Given the description of an element on the screen output the (x, y) to click on. 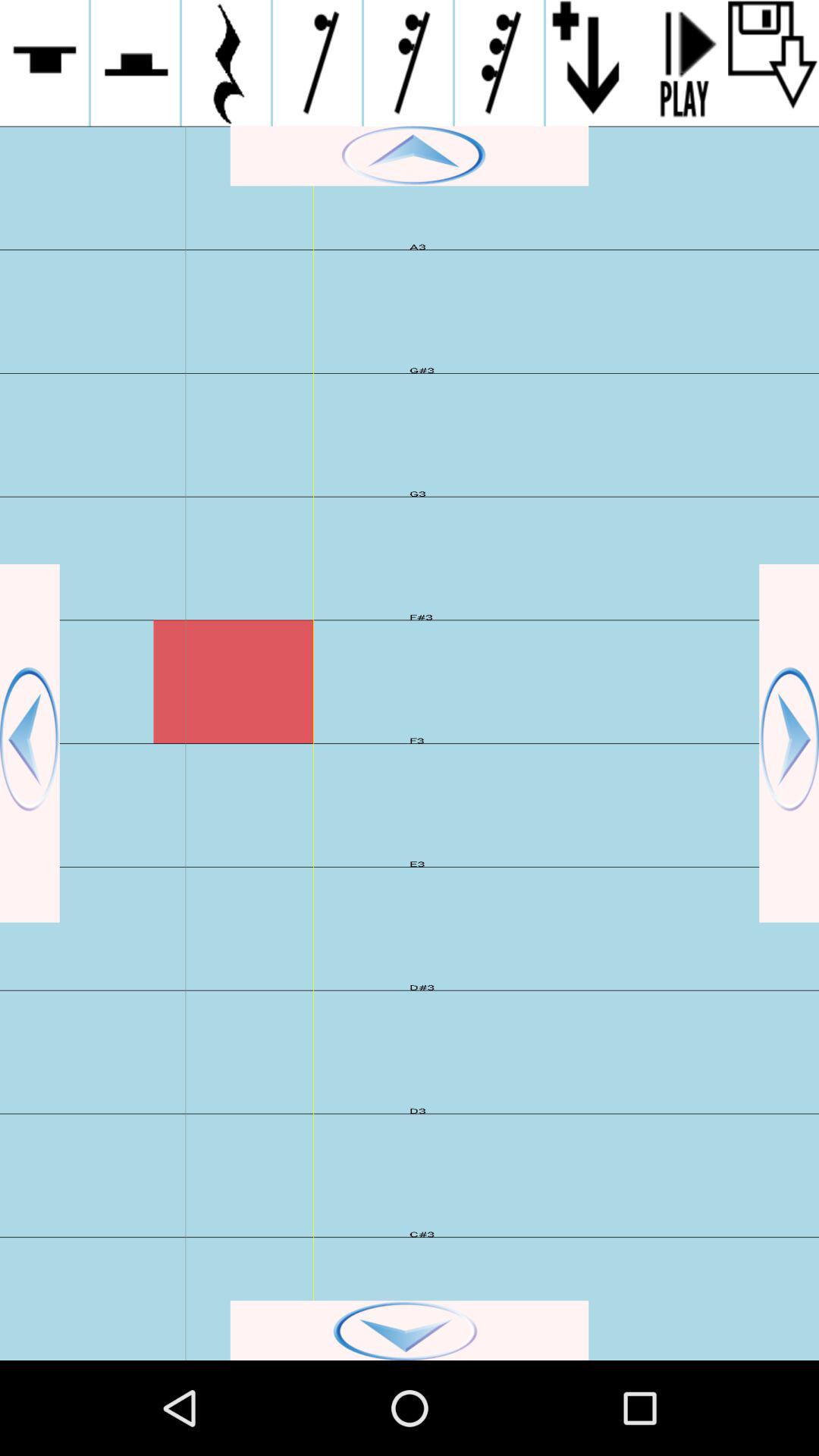
go to the left (29, 742)
